Given the description of an element on the screen output the (x, y) to click on. 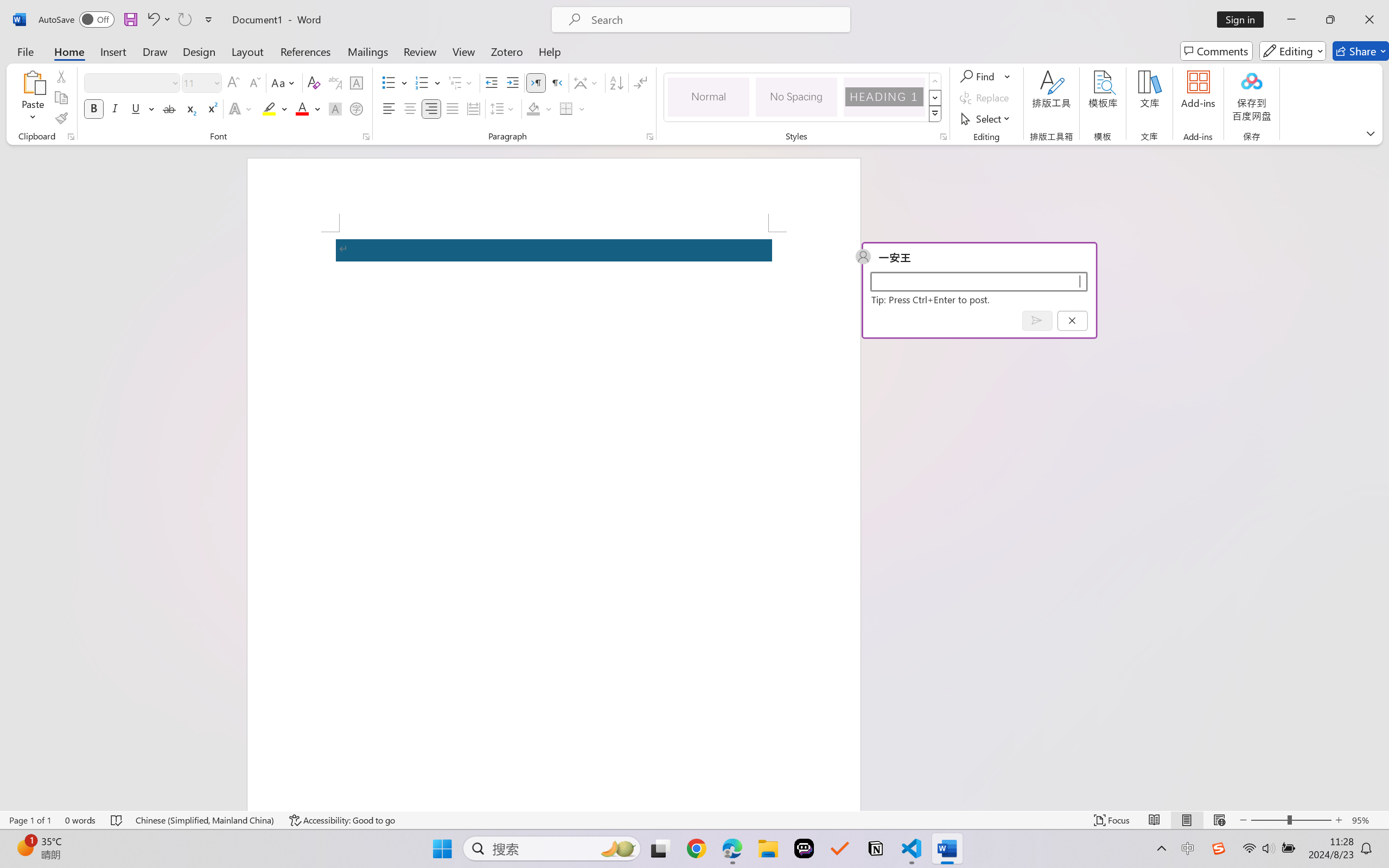
Undo (158, 19)
Sign in (1244, 19)
